Given the description of an element on the screen output the (x, y) to click on. 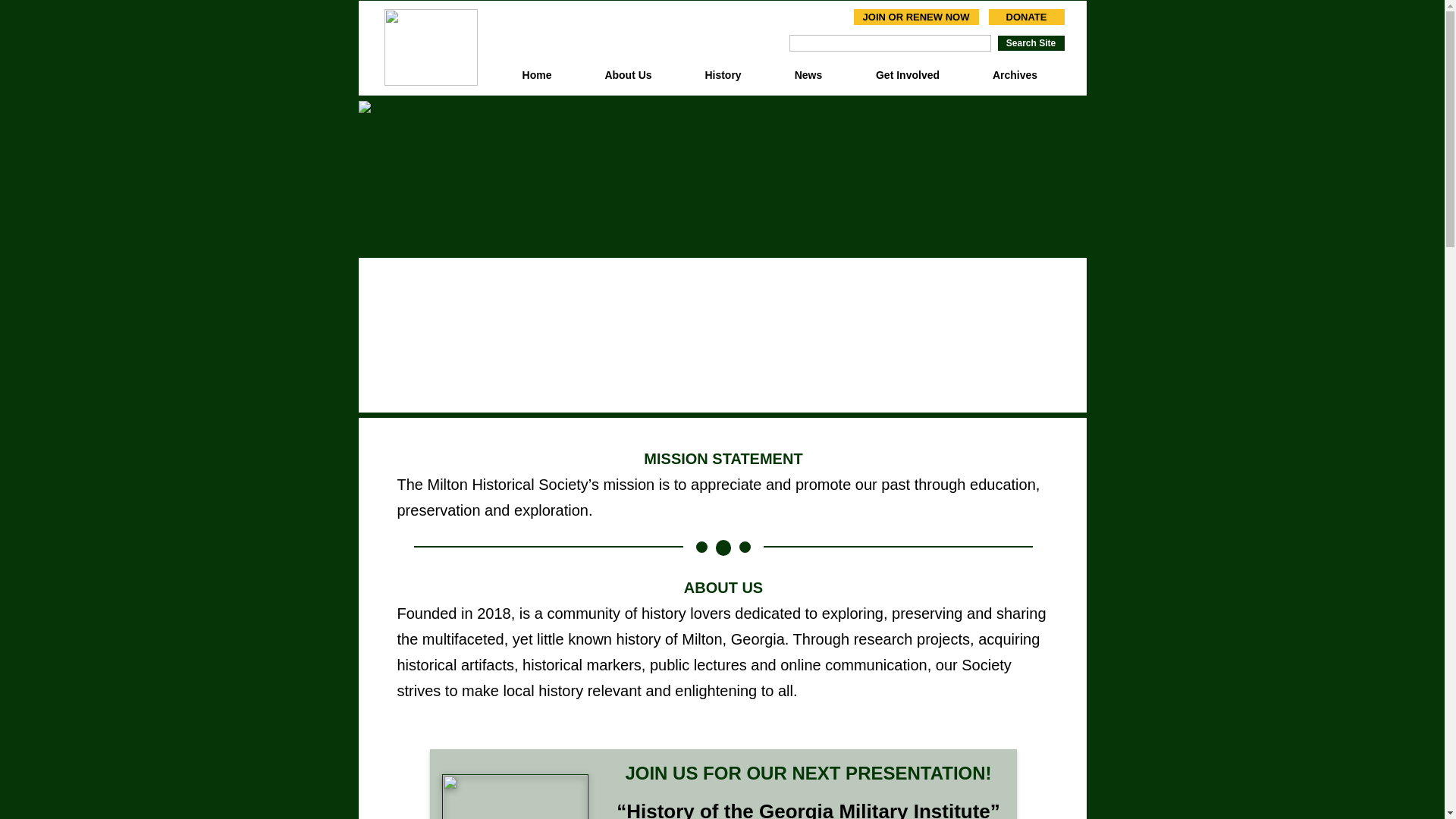
DONATE (1026, 18)
Search Site (1030, 45)
JOIN OR RENEW NOW (915, 18)
